Given the description of an element on the screen output the (x, y) to click on. 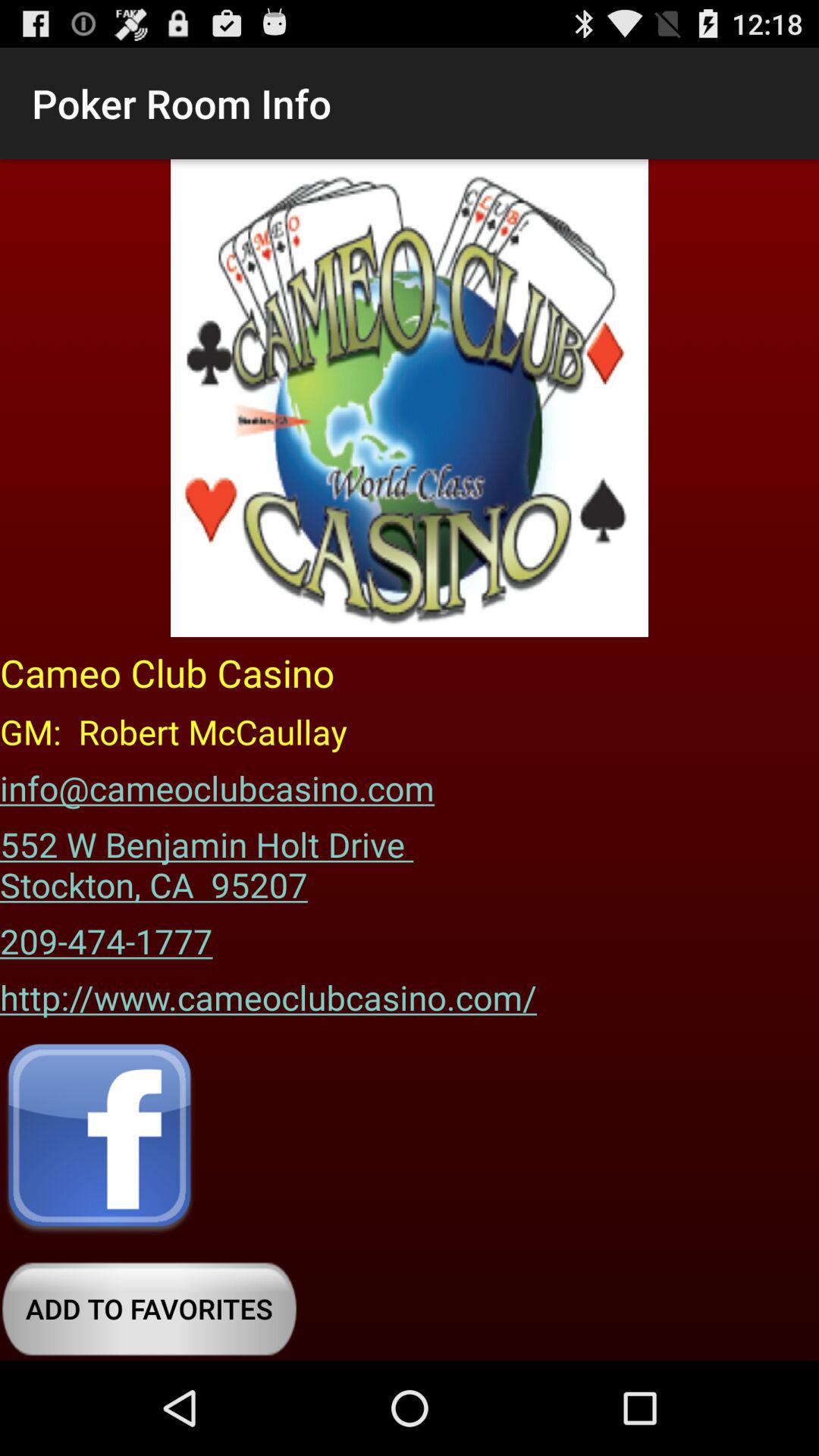
choose 209-474-1777 (106, 935)
